Given the description of an element on the screen output the (x, y) to click on. 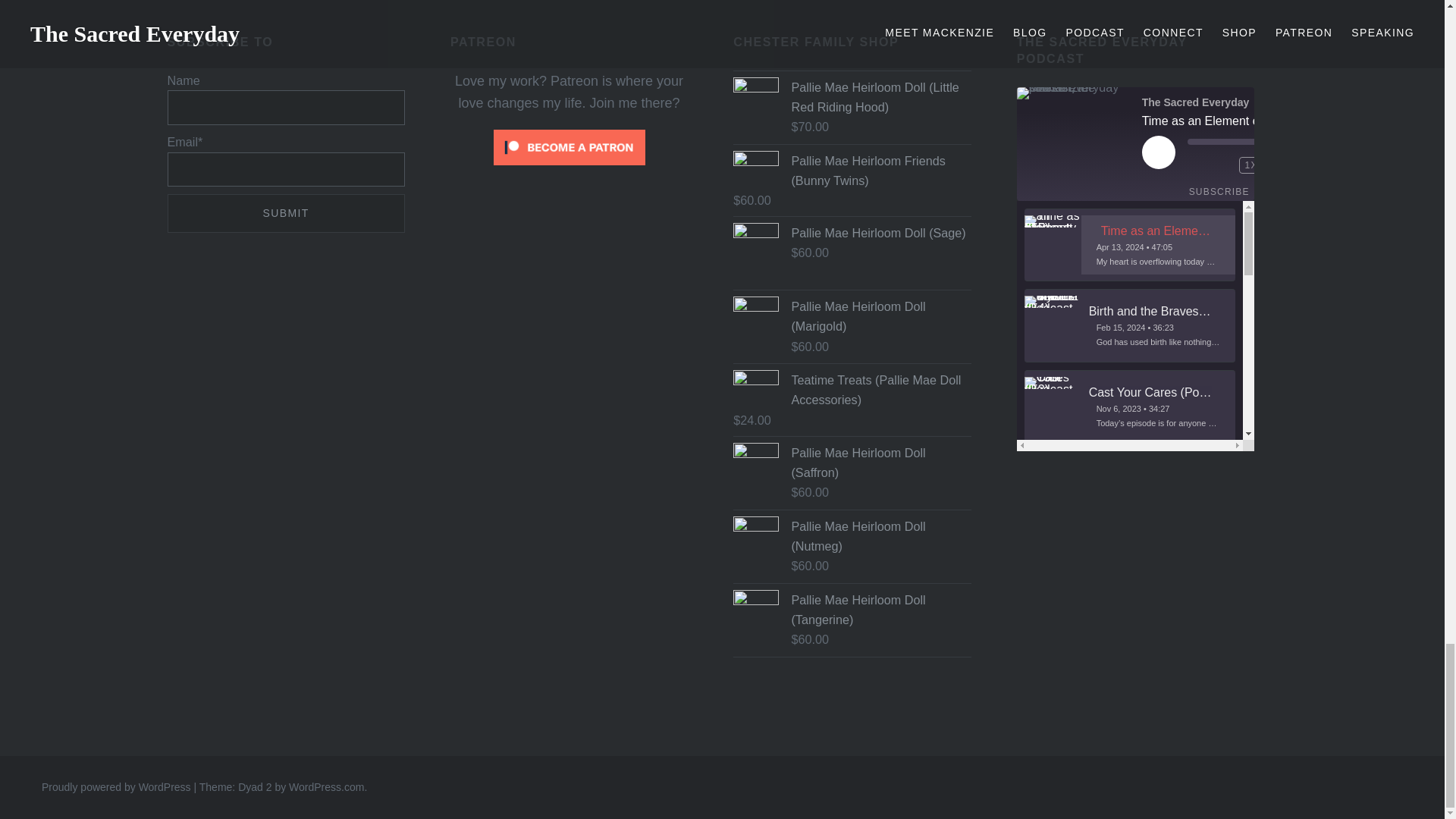
Playback Speed (1251, 165)
Submit (285, 213)
The Sacred Everyday (1073, 92)
Seek (1252, 141)
Play (1157, 151)
Subscribe (1218, 191)
